Given the description of an element on the screen output the (x, y) to click on. 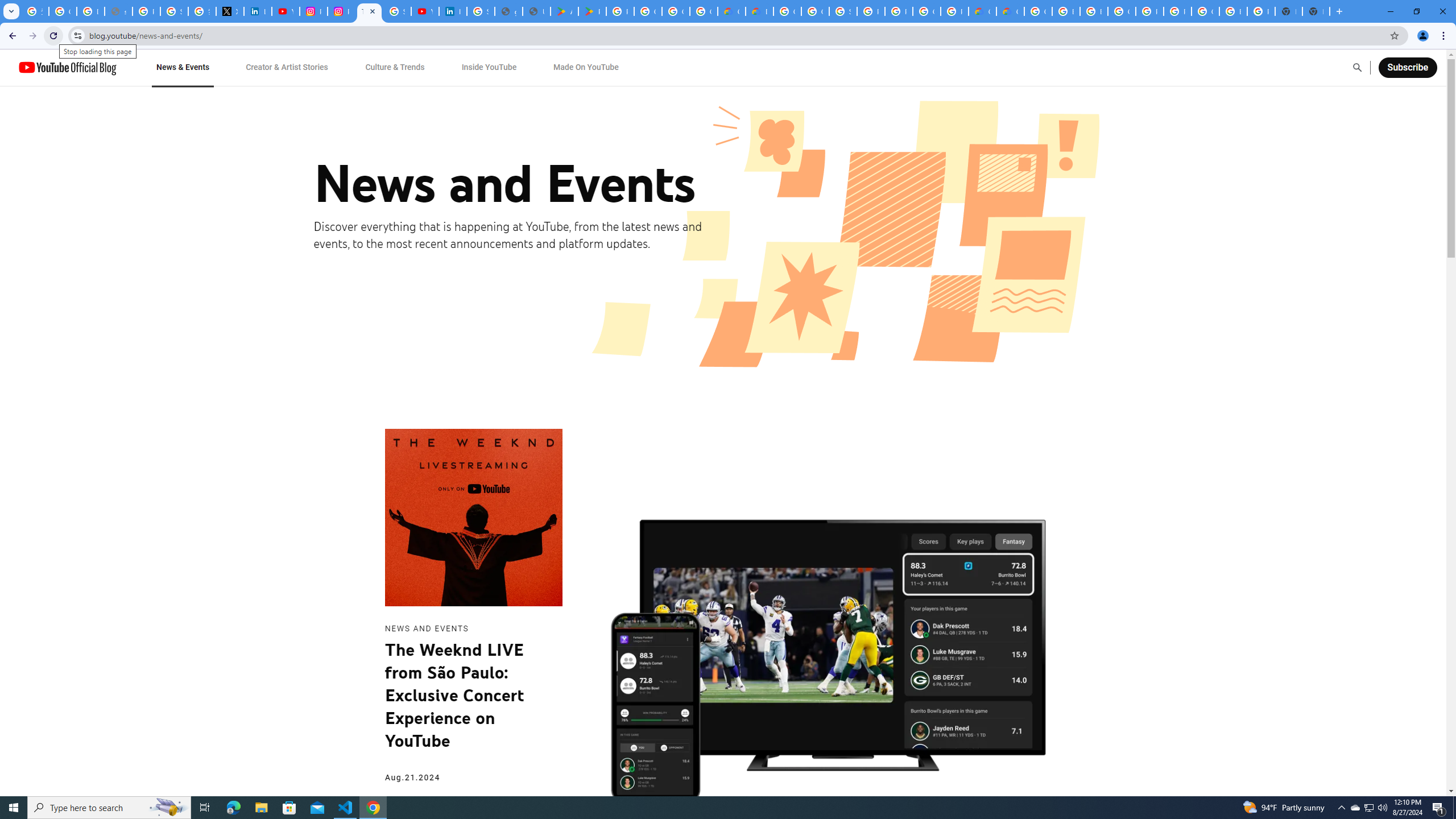
Open Search (1357, 67)
YouTube Content Monetization Policies - How YouTube Works (285, 11)
Google Cloud Estimate Summary (1010, 11)
Customer Care | Google Cloud (982, 11)
LinkedIn Privacy Policy (257, 11)
Sign in - Google Accounts (174, 11)
